Given the description of an element on the screen output the (x, y) to click on. 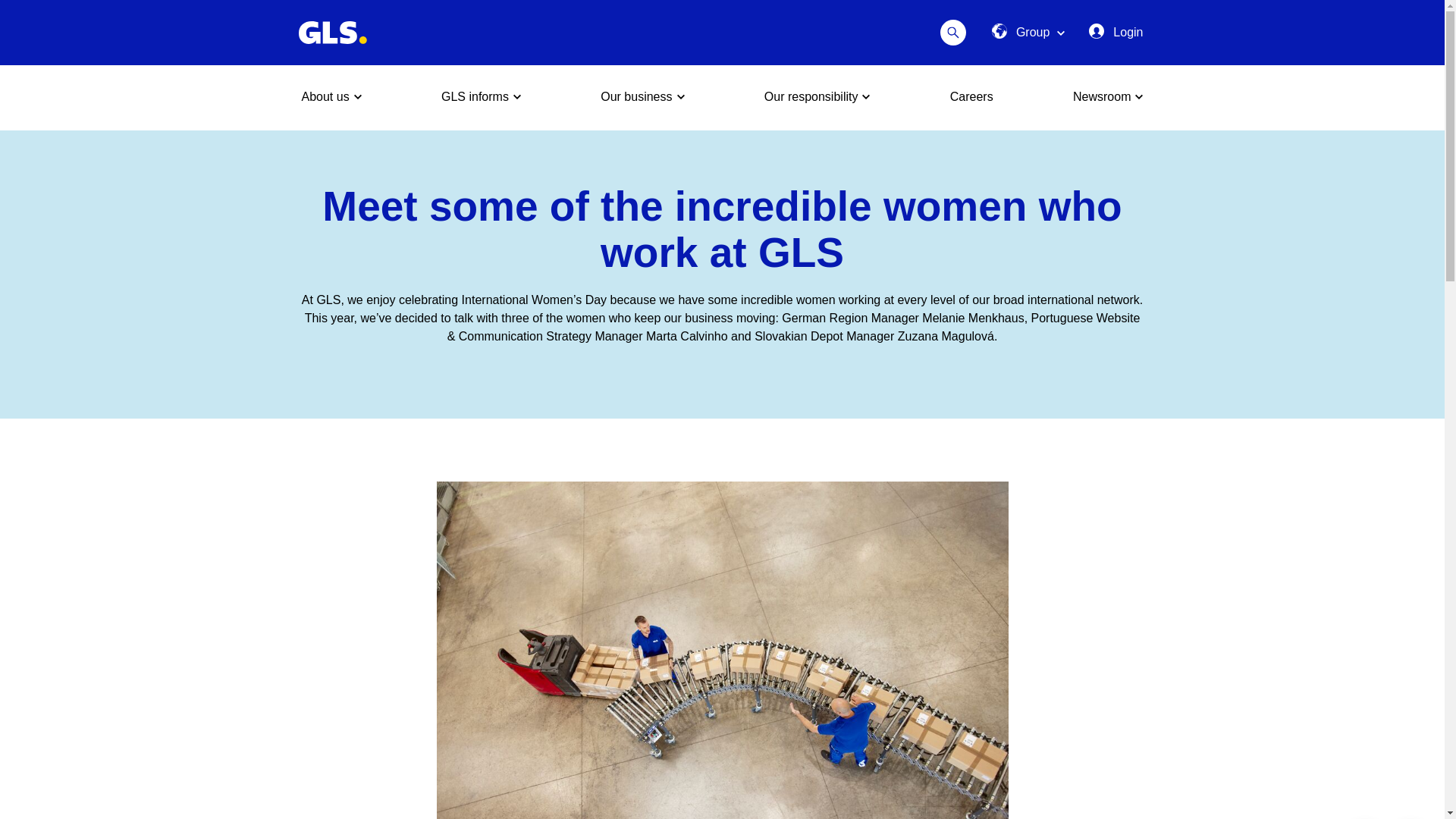
Group (1027, 32)
Our responsibility (817, 97)
Login (1115, 32)
Careers (971, 97)
Our business (641, 97)
About us (331, 97)
GLS informs (481, 97)
Newsroom (1107, 97)
